Given the description of an element on the screen output the (x, y) to click on. 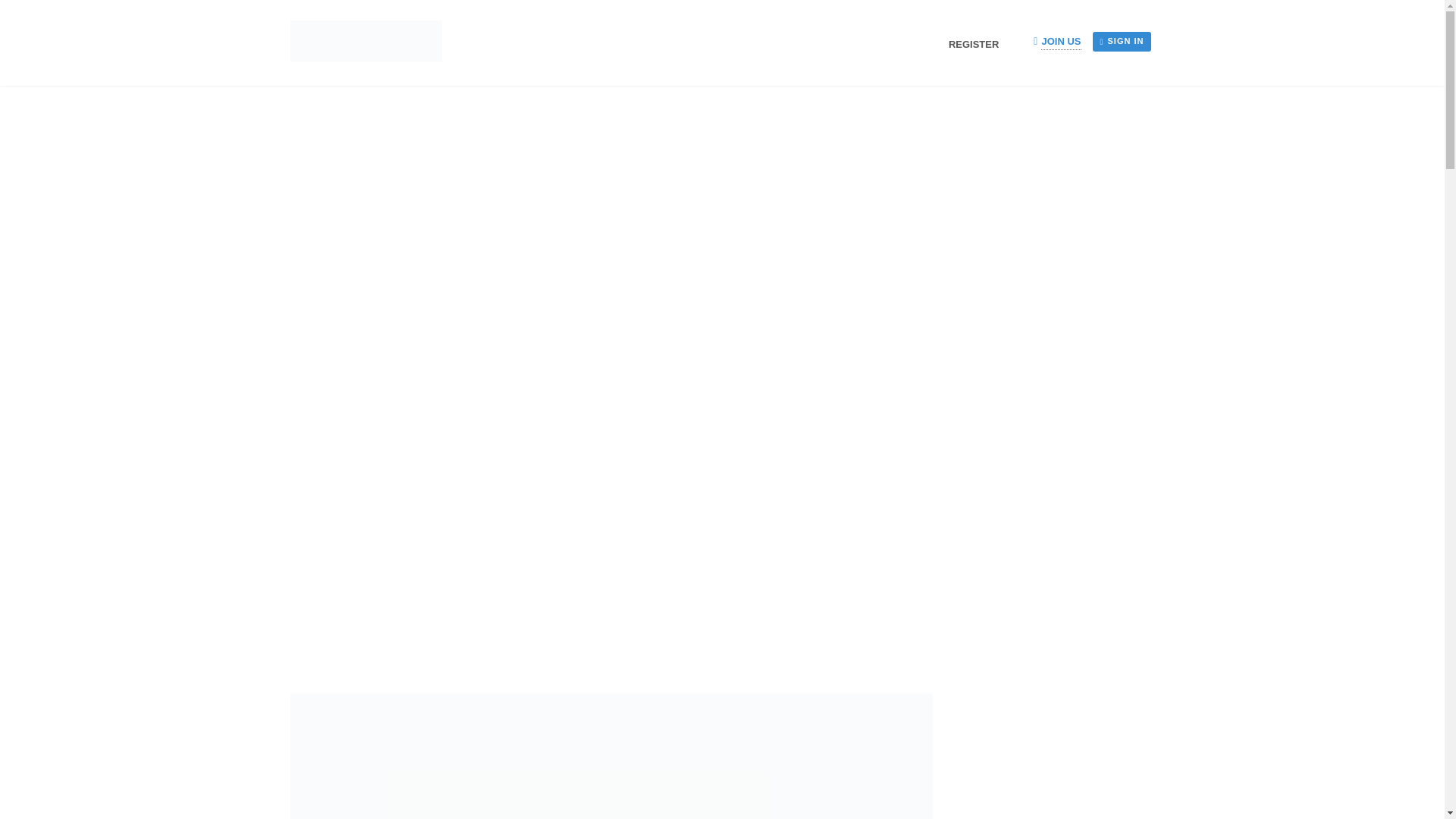
REGISTER (979, 43)
JOIN US (1060, 41)
SIGN IN (1121, 41)
